Given the description of an element on the screen output the (x, y) to click on. 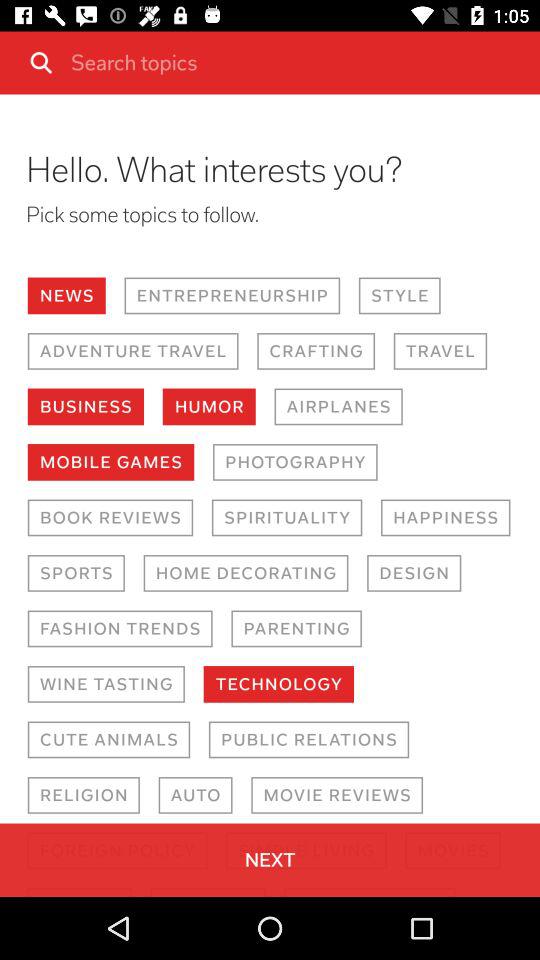
jump to the sports icon (75, 573)
